Given the description of an element on the screen output the (x, y) to click on. 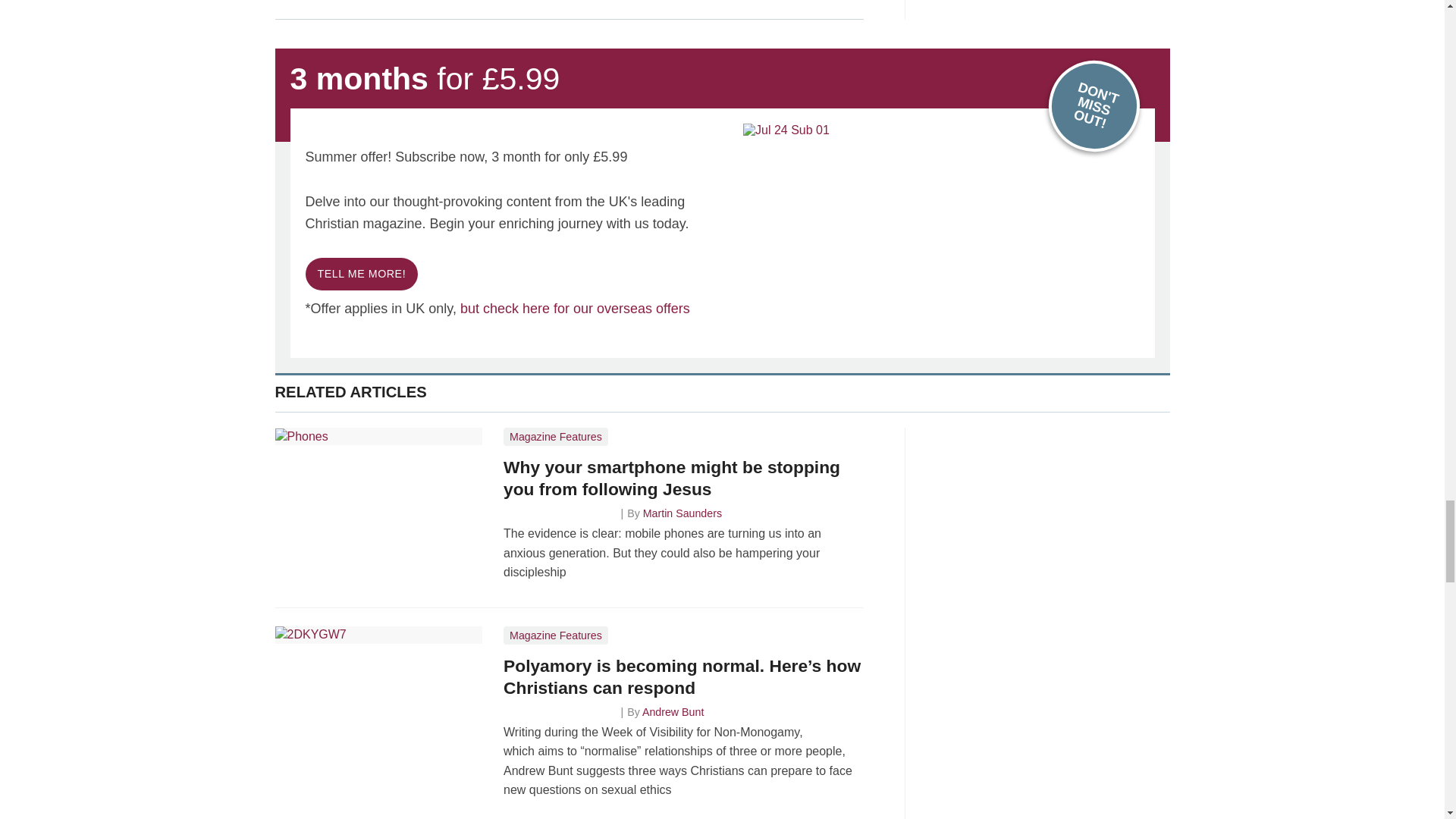
Share this on Twitter (320, 4)
Share this on Facebook (288, 4)
Share this on Linked in (352, 4)
Email this article (386, 4)
